Given the description of an element on the screen output the (x, y) to click on. 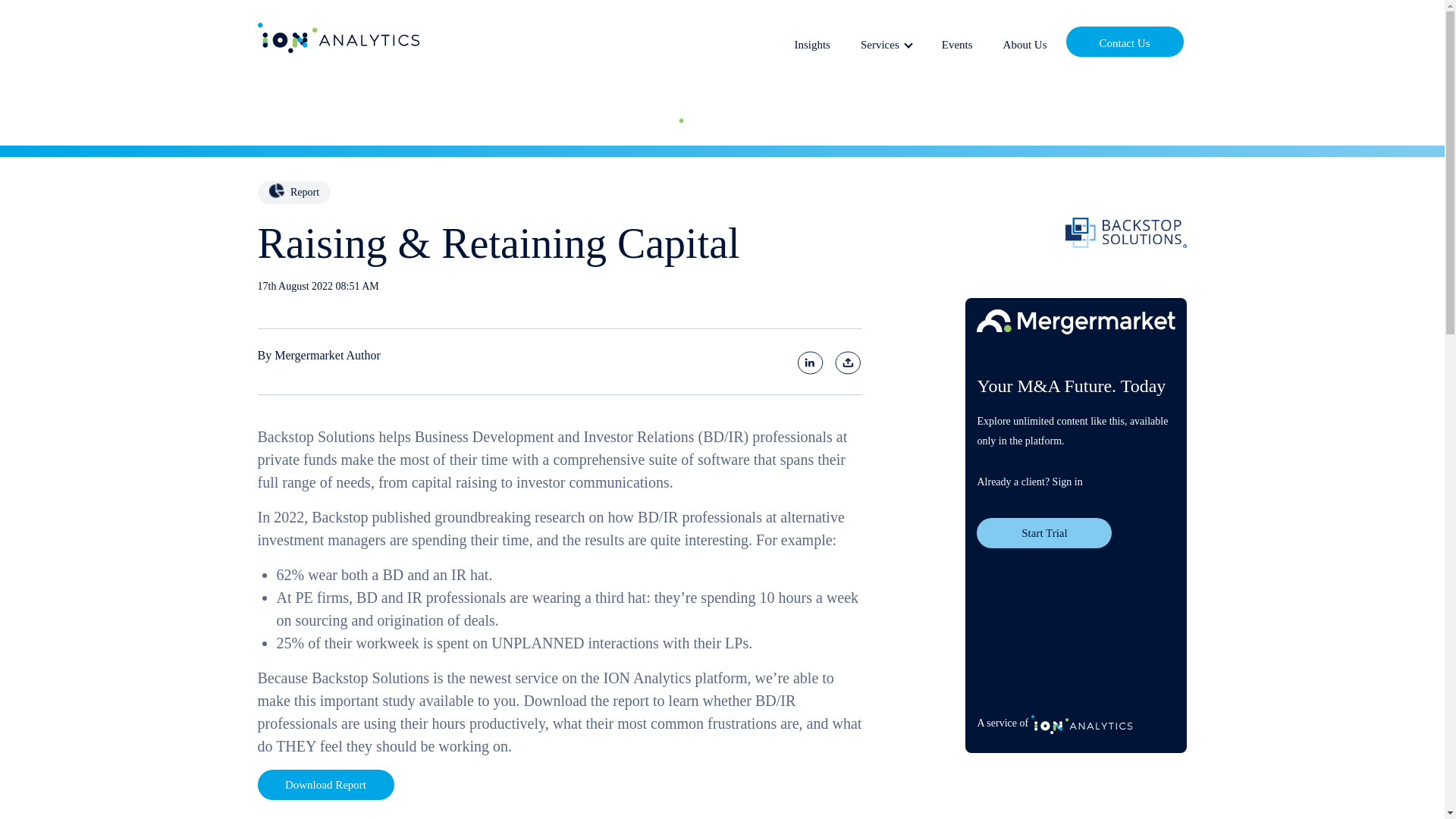
Services (885, 42)
Start Trial (1044, 532)
Report (292, 192)
Download Report (325, 784)
Insights (812, 42)
Sign in (1067, 481)
Contact Us (1124, 41)
Events (957, 42)
About Us (1024, 42)
